Given the description of an element on the screen output the (x, y) to click on. 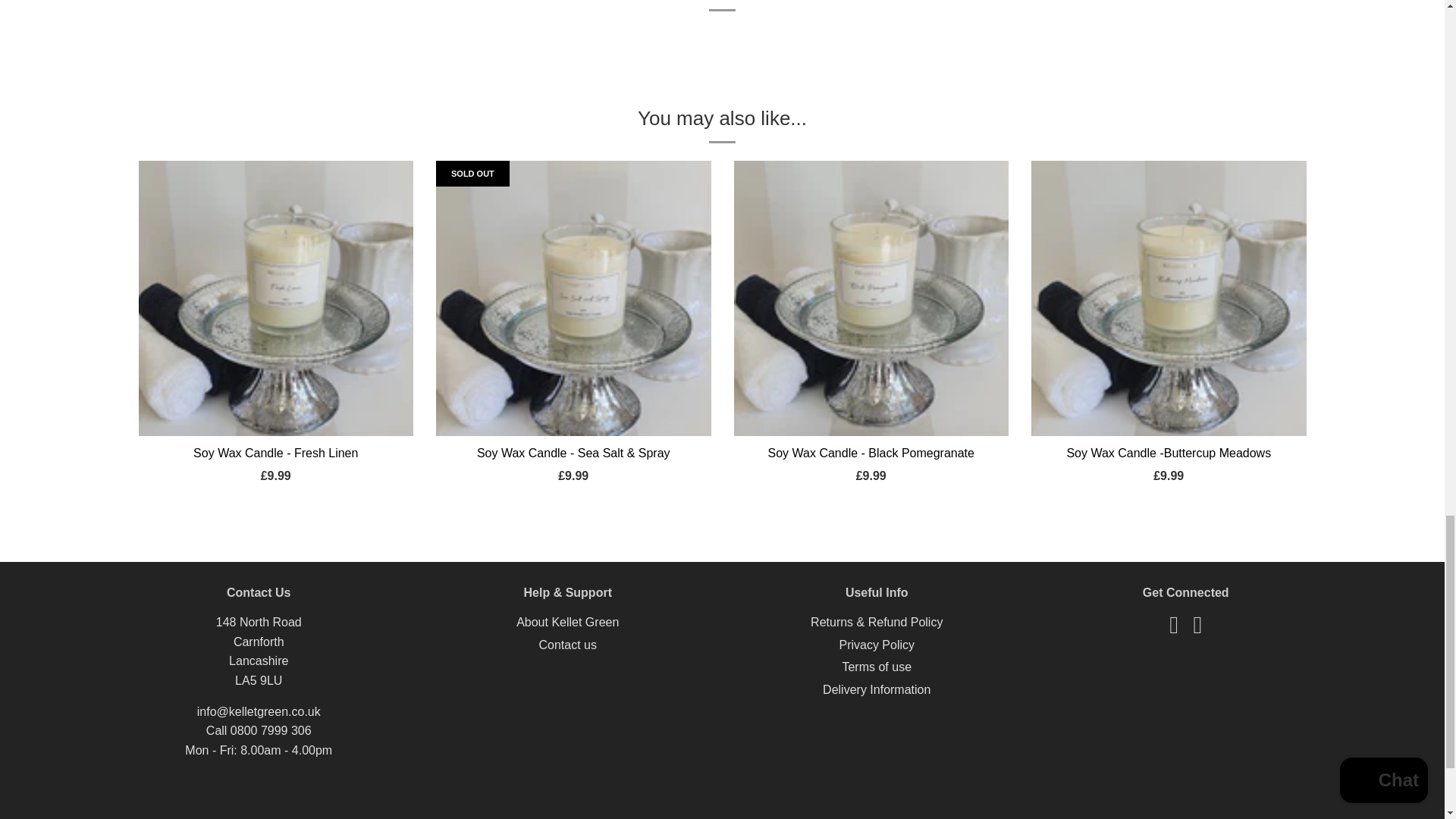
Soy Wax Candle - Fresh Linen (275, 452)
Soy Wax Candle - Black Pomegranate (871, 452)
Soy Wax Candle -Buttercup Meadows (1168, 297)
Privacy Policy (876, 644)
About Kellet Green (567, 621)
Delivery Information (876, 689)
Contact us (566, 644)
Terms of use (876, 666)
Soy Wax Candle - Black Pomegranate (871, 297)
Soy Wax Candle -Buttercup Meadows (1168, 452)
Soy Wax Candle - Fresh Linen (275, 297)
